Given the description of an element on the screen output the (x, y) to click on. 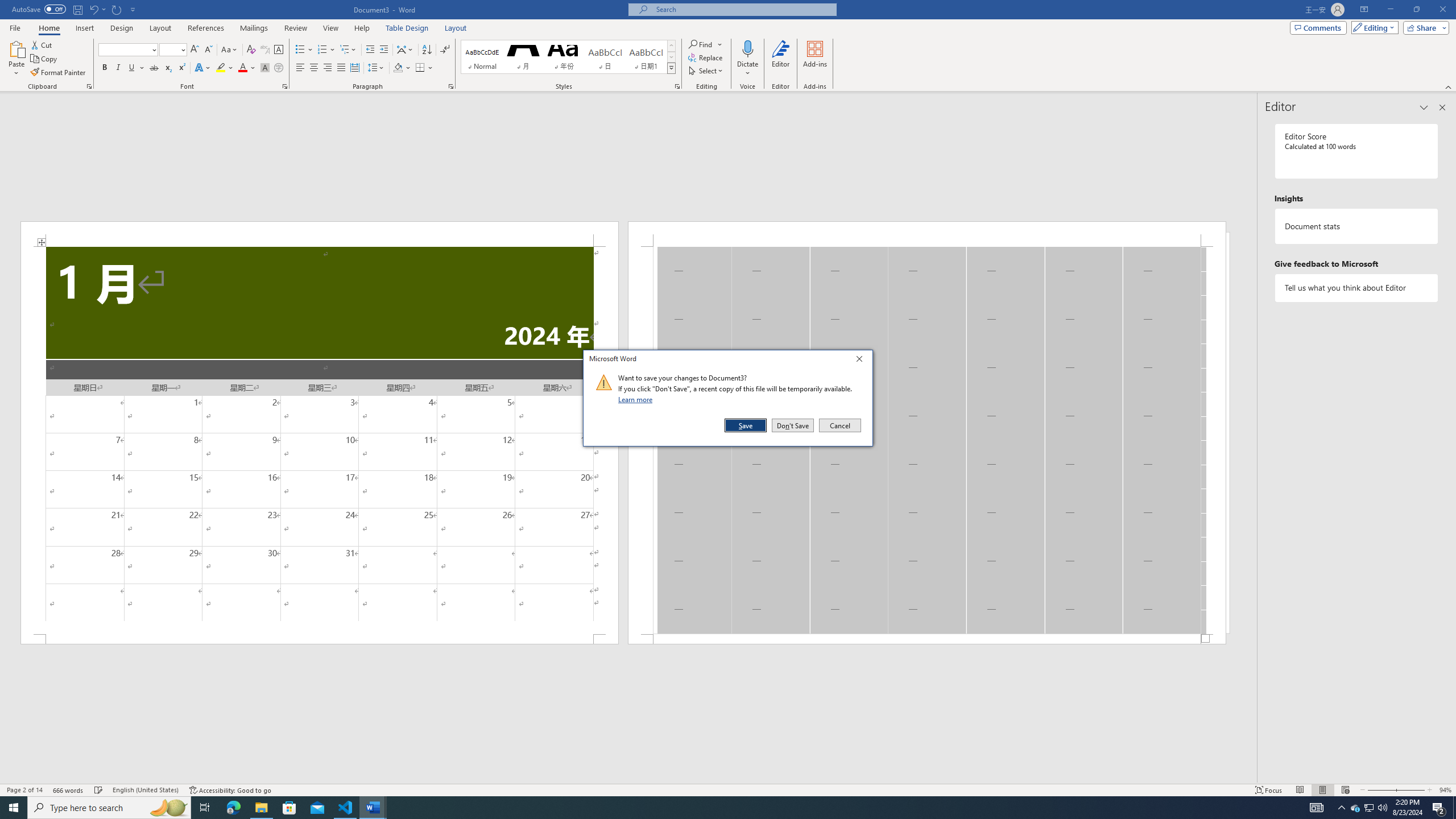
Word - 2 running windows (373, 807)
Running applications (717, 807)
